Given the description of an element on the screen output the (x, y) to click on. 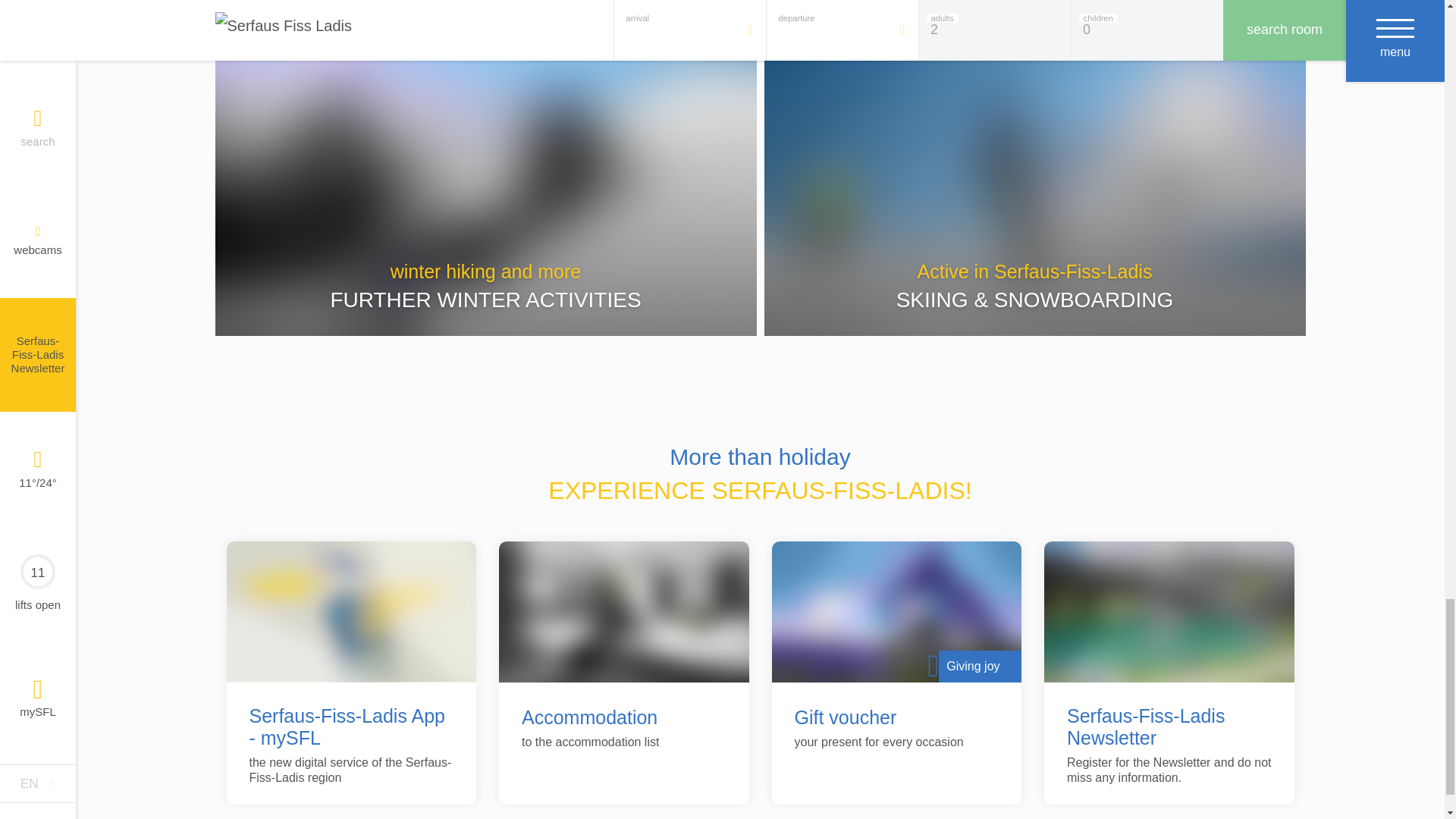
Serfaus-Fiss-Ladis App - mySFL (350, 727)
Serfaus-Fiss-Ladis App (350, 611)
Accommodation in Serfaus-Fiss-Ladis (624, 611)
Accommodation (589, 717)
Serfaus-Fiss-Ladis Newsletter (1169, 727)
FURTHER WINTER ACTIVITIES (485, 300)
Gift voucher (845, 717)
